Given the description of an element on the screen output the (x, y) to click on. 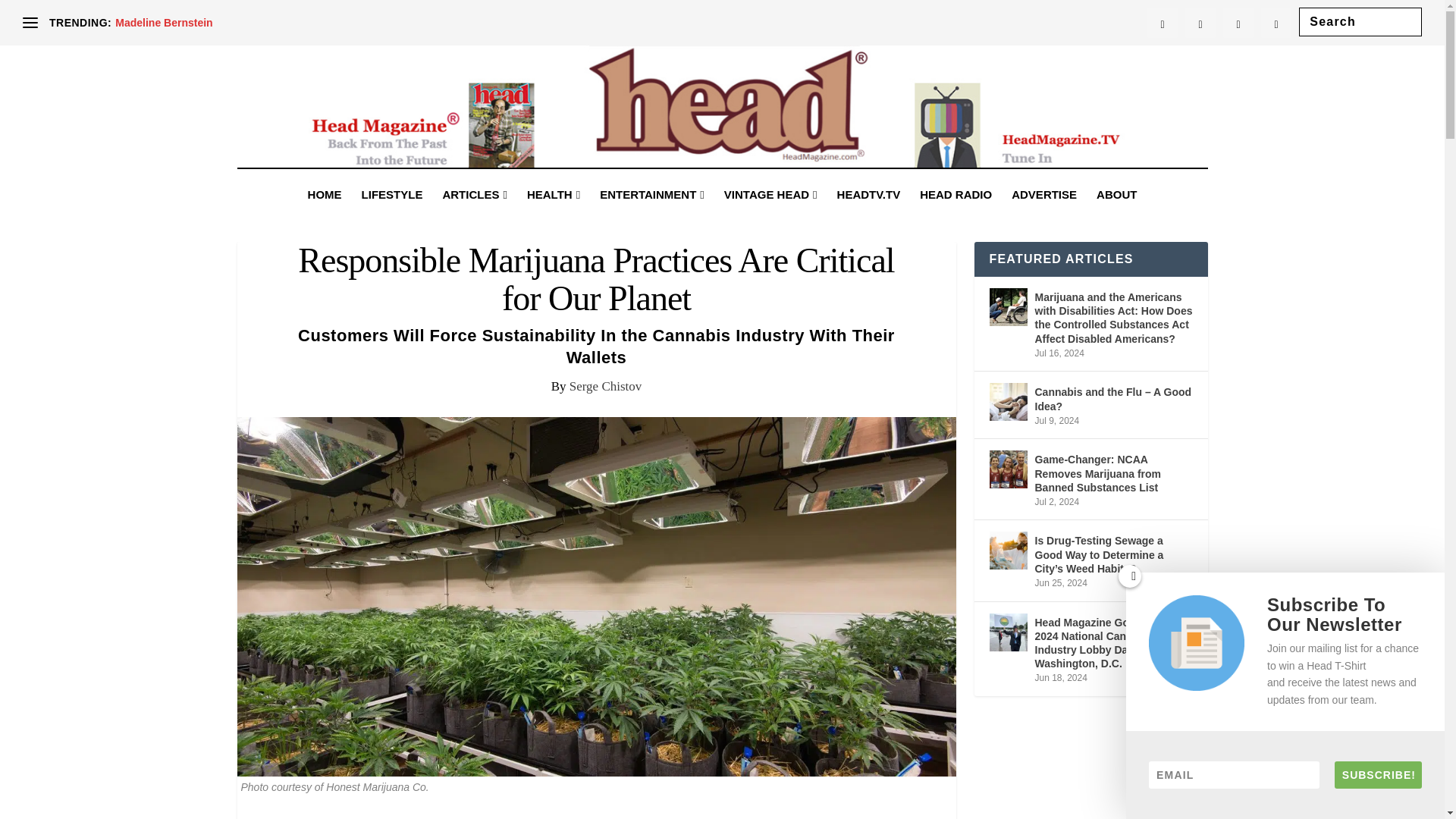
HEADTV.TV (869, 215)
ENTERTAINMENT (651, 215)
LIFESTYLE (392, 215)
ADVERTISE (1044, 215)
HEALTH (553, 215)
HEAD RADIO (955, 215)
Madeline Bernstein (163, 22)
VINTAGE HEAD (769, 215)
Posts by Serge Chistov (605, 386)
Search for: (1360, 22)
ARTICLES (474, 215)
